Given the description of an element on the screen output the (x, y) to click on. 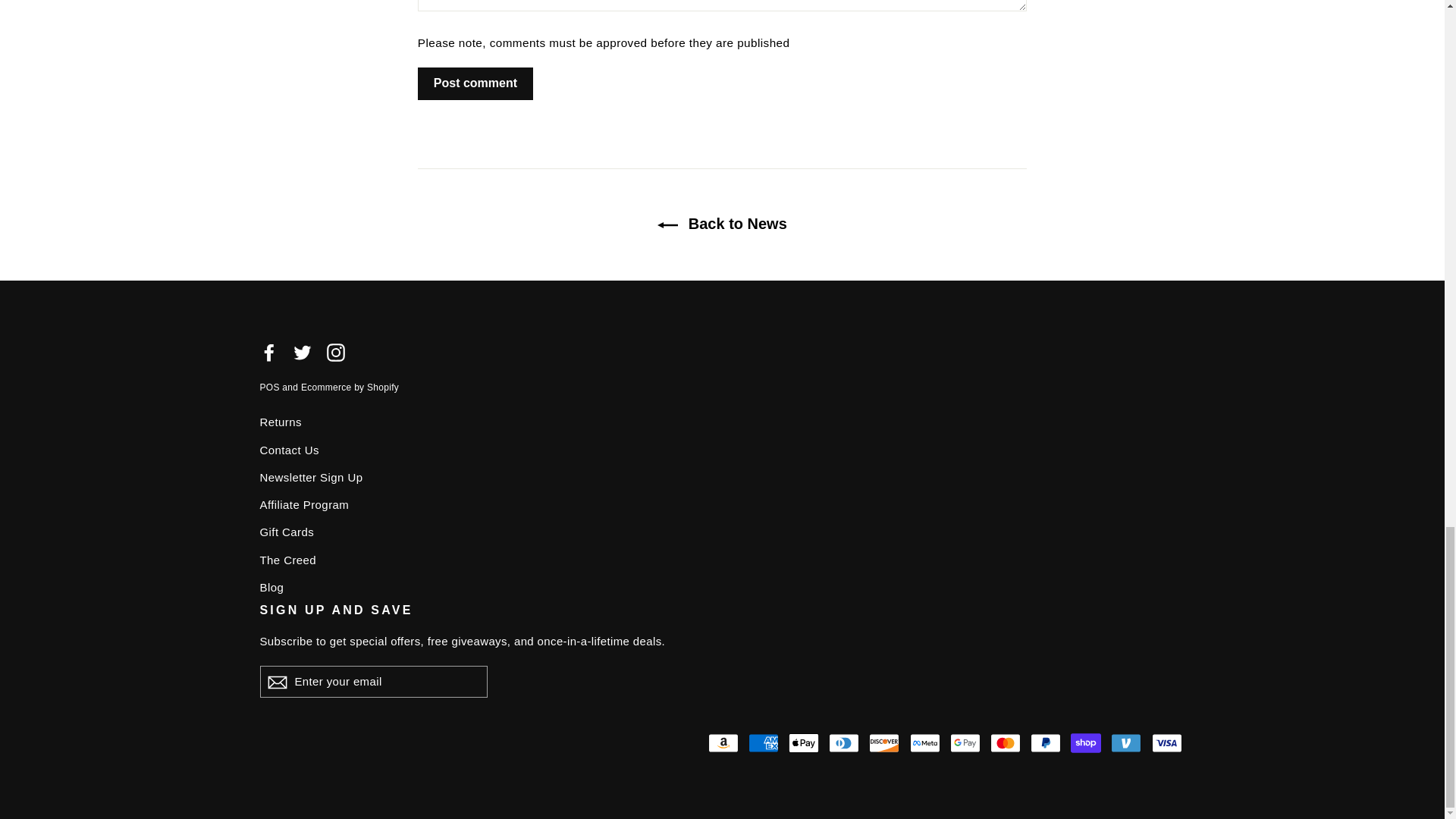
Mastercard (1005, 743)
Discover (884, 743)
Twitter (302, 351)
Returns (722, 422)
POS (269, 387)
Diners Club (843, 743)
Affiliate Program (722, 504)
Contact Us (722, 450)
Amazon (722, 743)
Apple Pay (803, 743)
Google Pay (964, 743)
Boxstar Apparel on Twitter (302, 351)
Post comment (474, 83)
Meta Pay (925, 743)
Ecommerce by Shopify (349, 387)
